Given the description of an element on the screen output the (x, y) to click on. 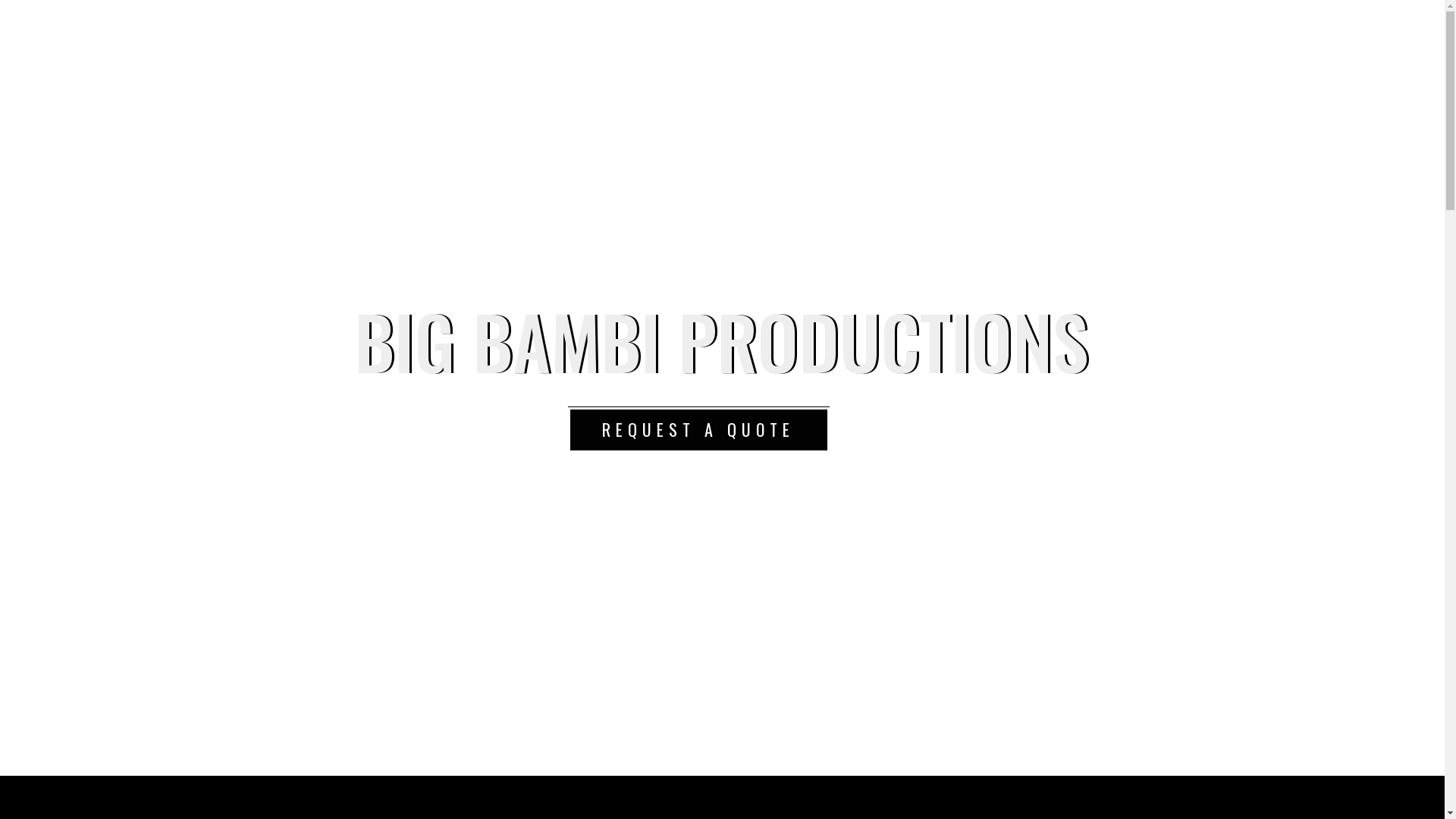
REQUEST A QUOTE Element type: text (697, 429)
REQUEST A QUOTE Element type: text (697, 428)
